Given the description of an element on the screen output the (x, y) to click on. 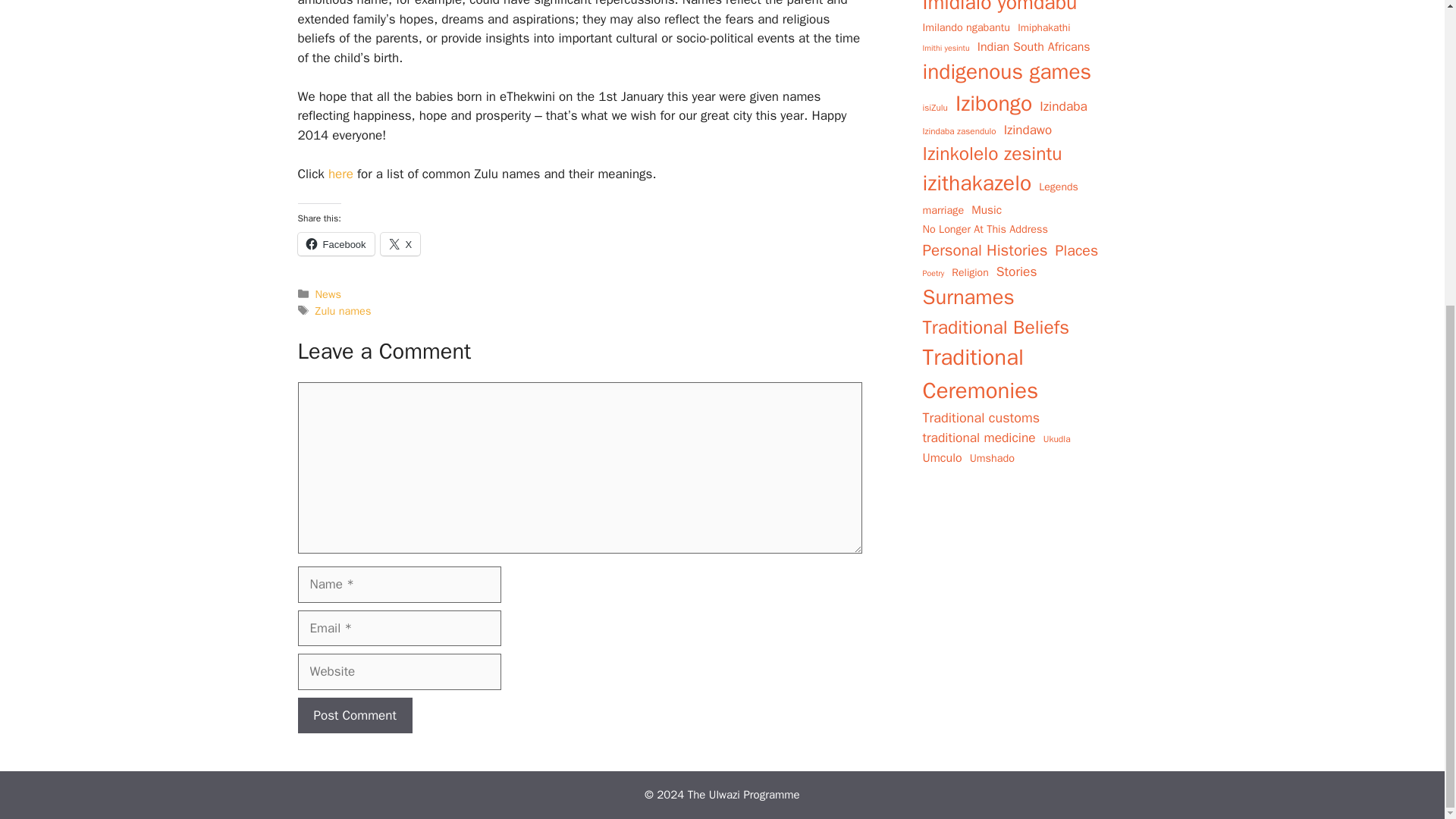
Click to share on Facebook (335, 243)
Facebook (335, 243)
Click to share on X (400, 243)
News (327, 294)
X (400, 243)
here (342, 173)
Post Comment (354, 715)
Imidlalo yomdabu (999, 8)
Post Comment (354, 715)
Zulu names (343, 310)
